Given the description of an element on the screen output the (x, y) to click on. 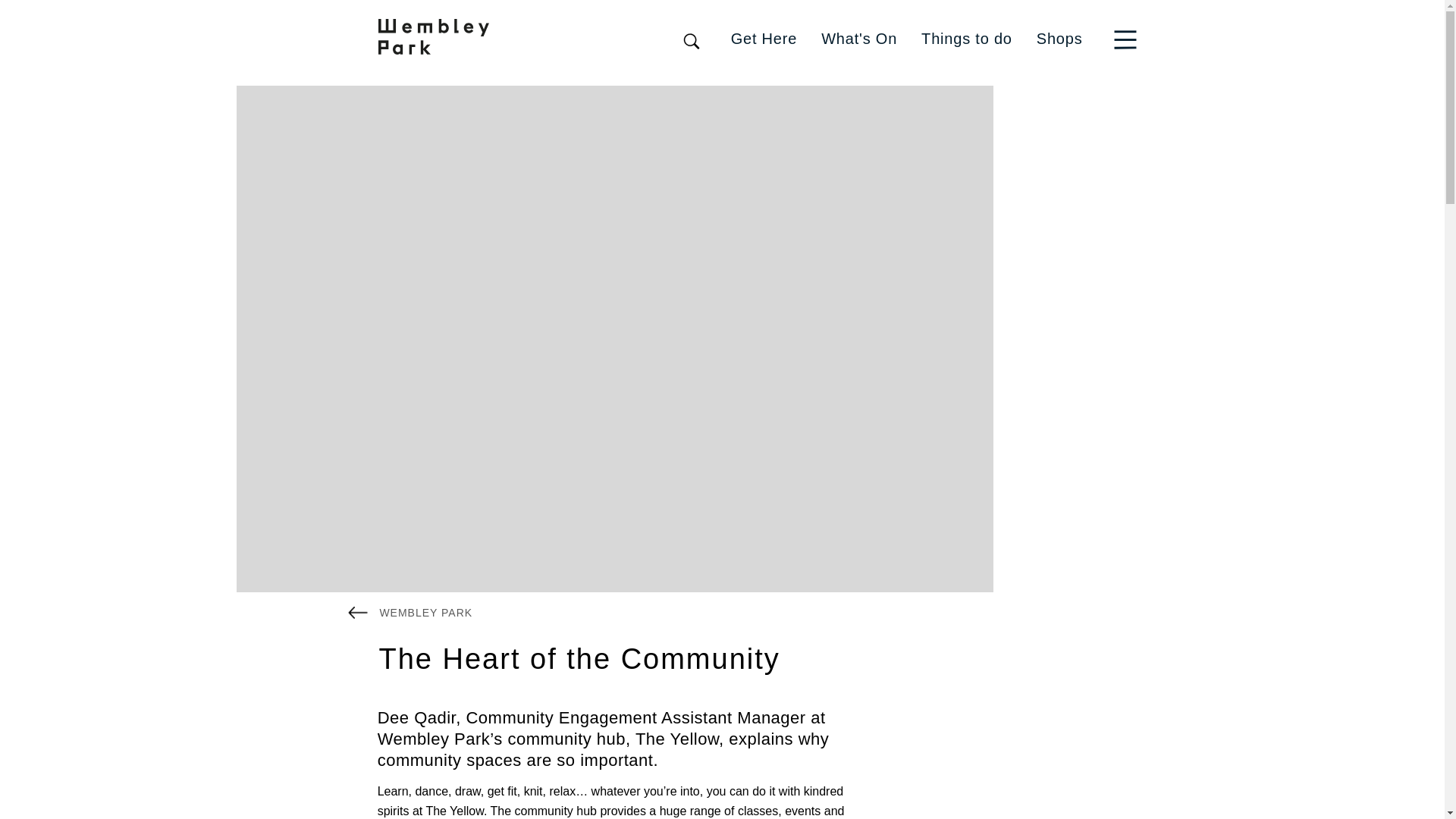
What's On (858, 38)
Slice 1 Created with Sketch. (1128, 37)
WEMBLEY PARK (409, 611)
Slice 1 Created with Sketch. (1125, 39)
Things to do (966, 38)
Shops (1059, 38)
Get Here (763, 38)
